Given the description of an element on the screen output the (x, y) to click on. 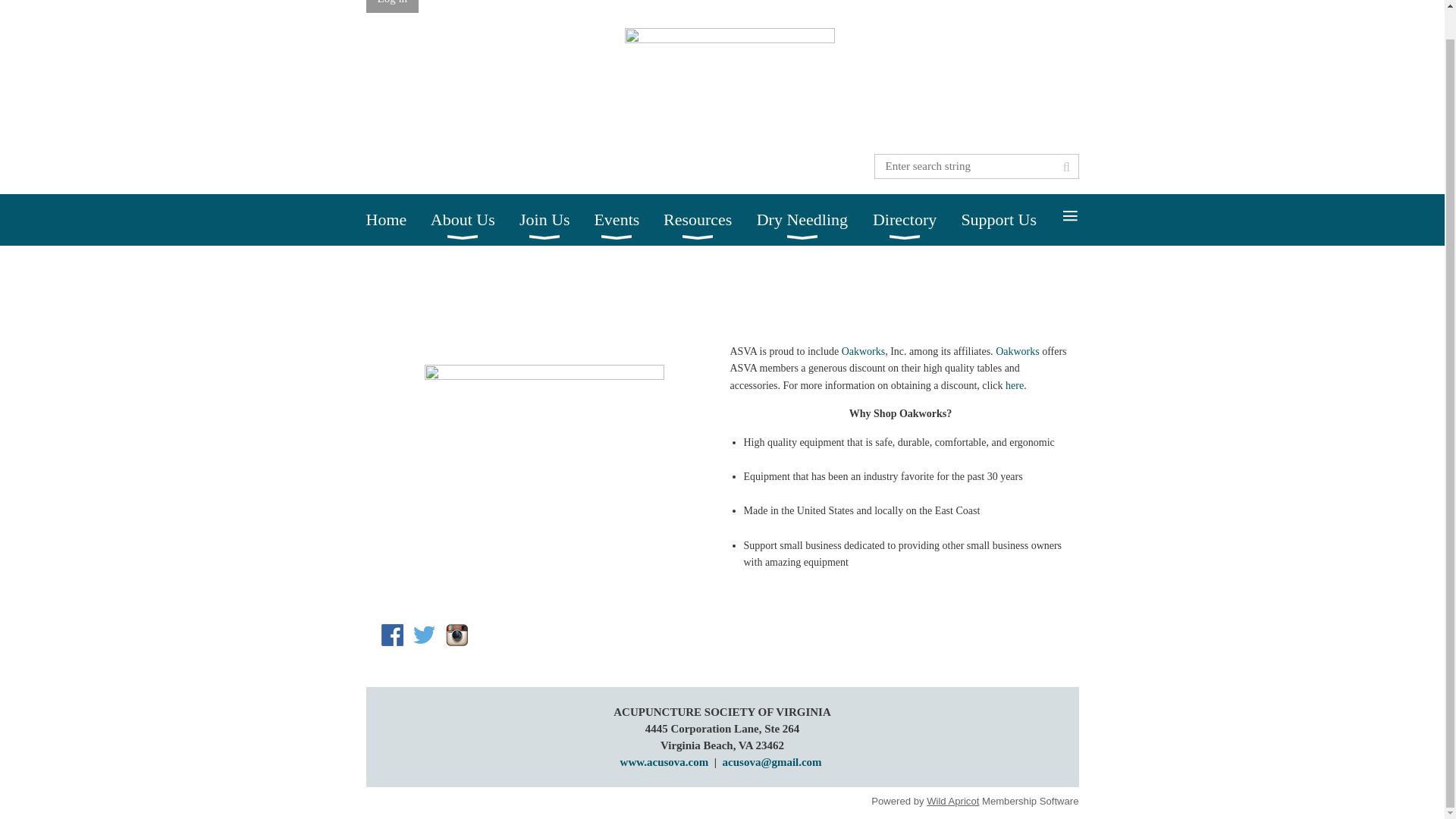
Support Us (1010, 219)
Join Us (556, 219)
Home (397, 219)
Events (628, 219)
Dry Needling (814, 219)
Directory (916, 219)
About Us (474, 219)
Resources (710, 219)
Resources (710, 219)
Home (397, 219)
